Given the description of an element on the screen output the (x, y) to click on. 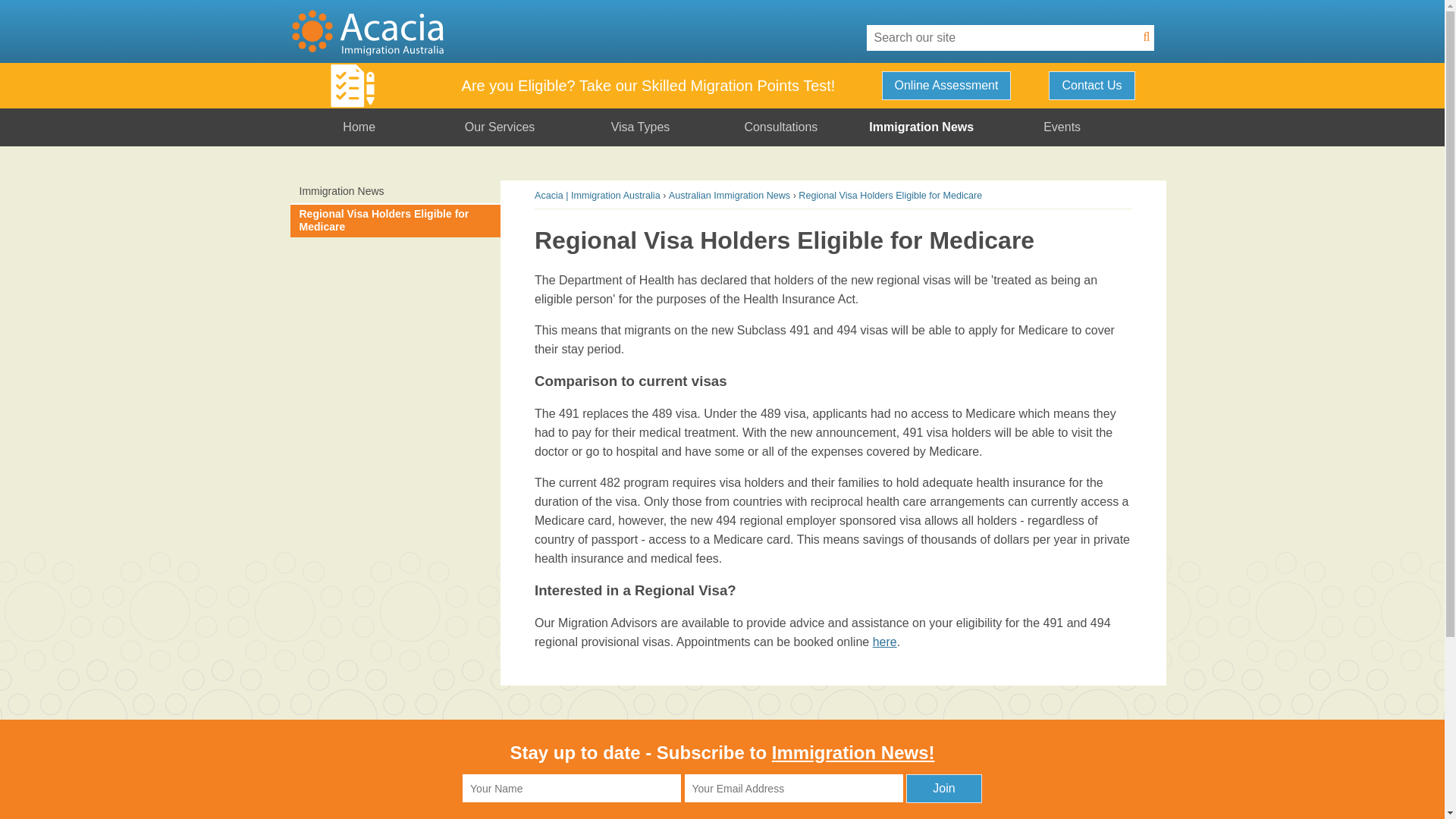
Regional Visa Holders Eligible for Medicare (889, 195)
Australian Immigration News (729, 195)
Immigration News (920, 127)
Home (358, 127)
Consultations (780, 127)
Acacia (577, 31)
Our Services (499, 127)
Immigration News! (852, 752)
Join (943, 788)
Events (1061, 127)
Visa Types (639, 127)
Immigration News (394, 192)
Acacia (367, 31)
Regional Visa Holders Eligible for Medicare (394, 220)
here (884, 641)
